Given the description of an element on the screen output the (x, y) to click on. 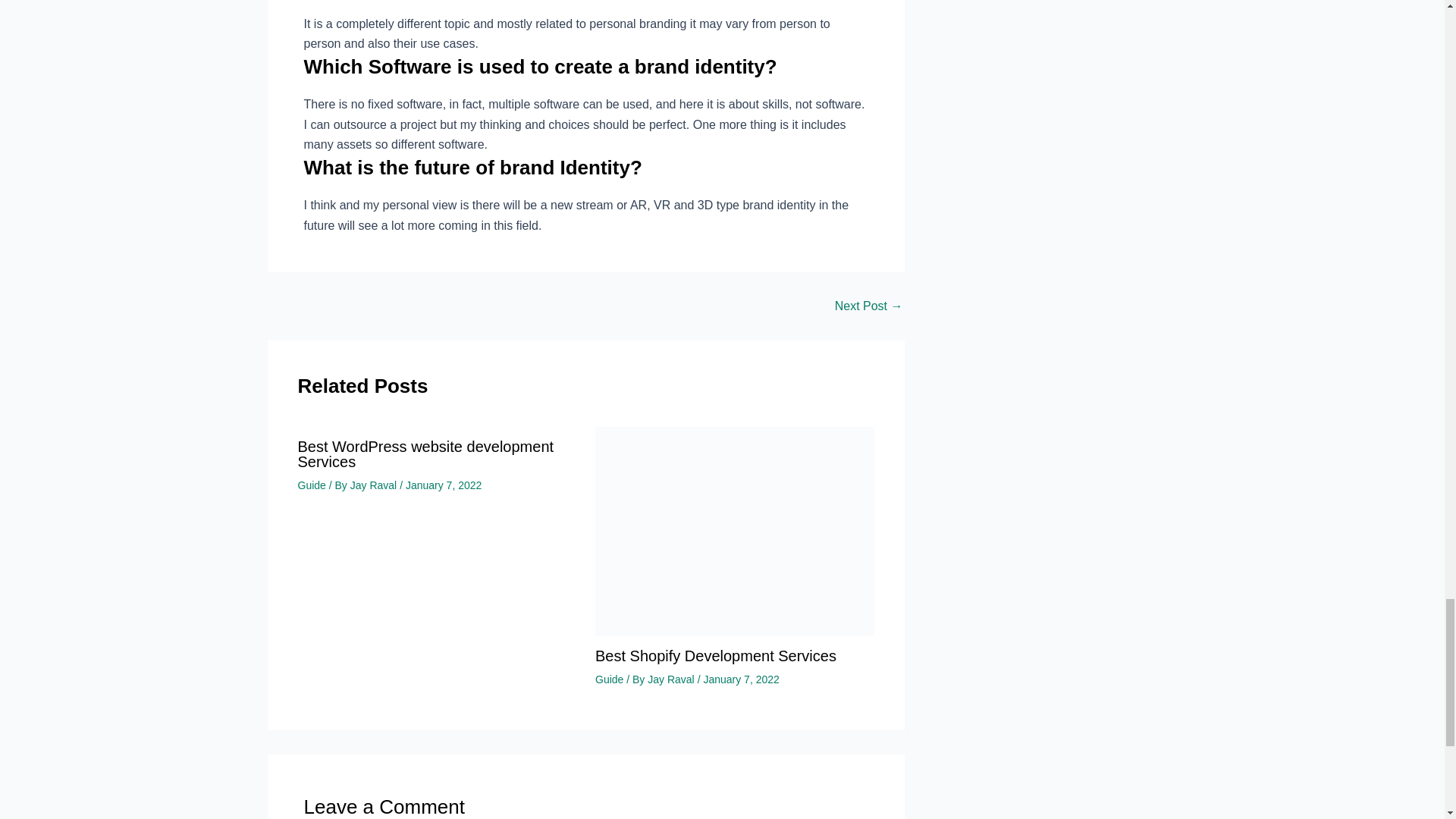
View all posts by Jay Raval (672, 679)
Best Shopify Development Services (735, 531)
Best WordPress website development Services (868, 306)
View all posts by Jay Raval (374, 485)
